Given the description of an element on the screen output the (x, y) to click on. 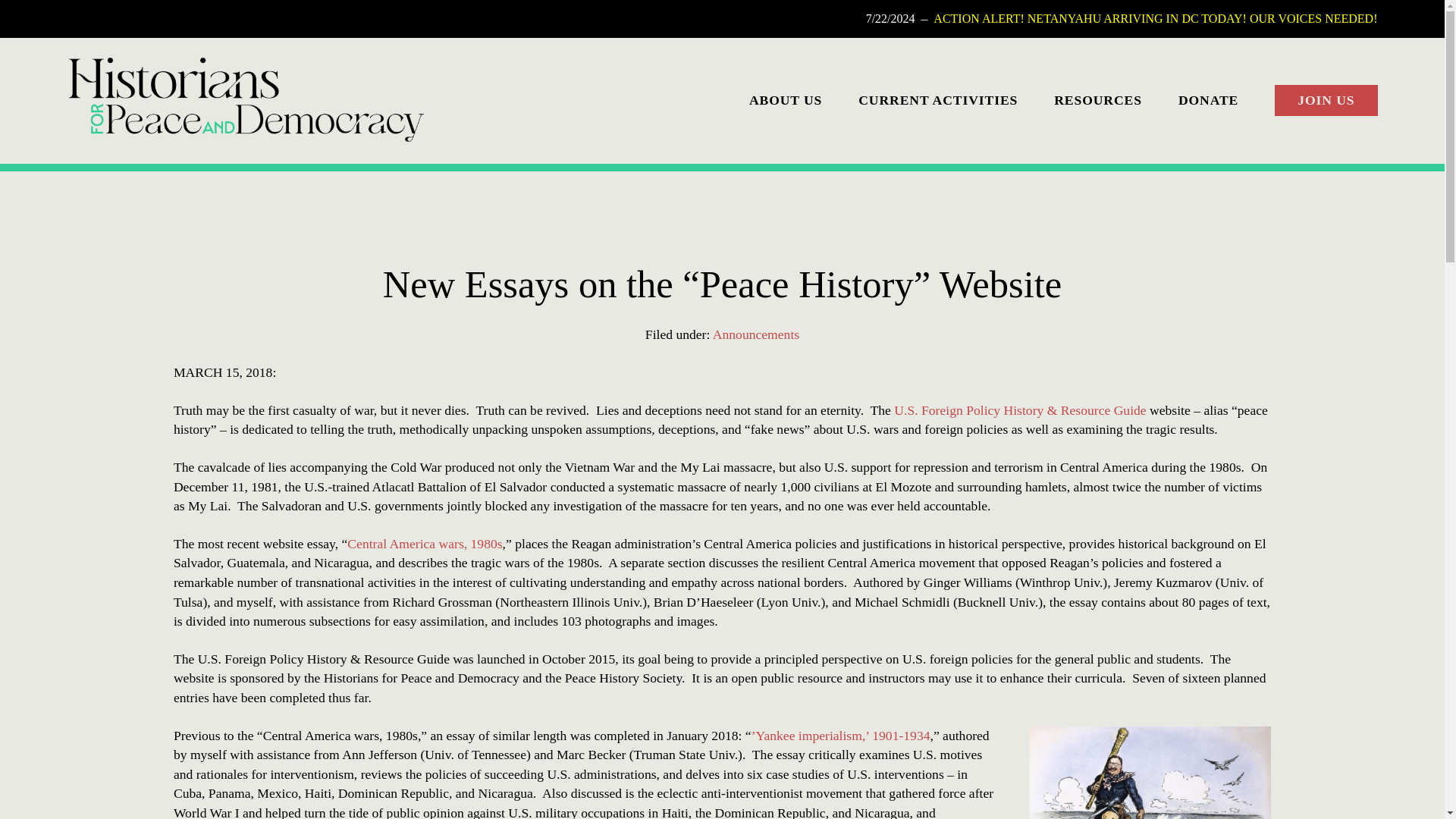
DONATE (1208, 99)
ABOUT US (785, 99)
Central America wars, 1980s (424, 543)
JOIN US (1326, 101)
CURRENT ACTIVITIES (938, 99)
Announcements (756, 334)
RESOURCES (1097, 99)
